Given the description of an element on the screen output the (x, y) to click on. 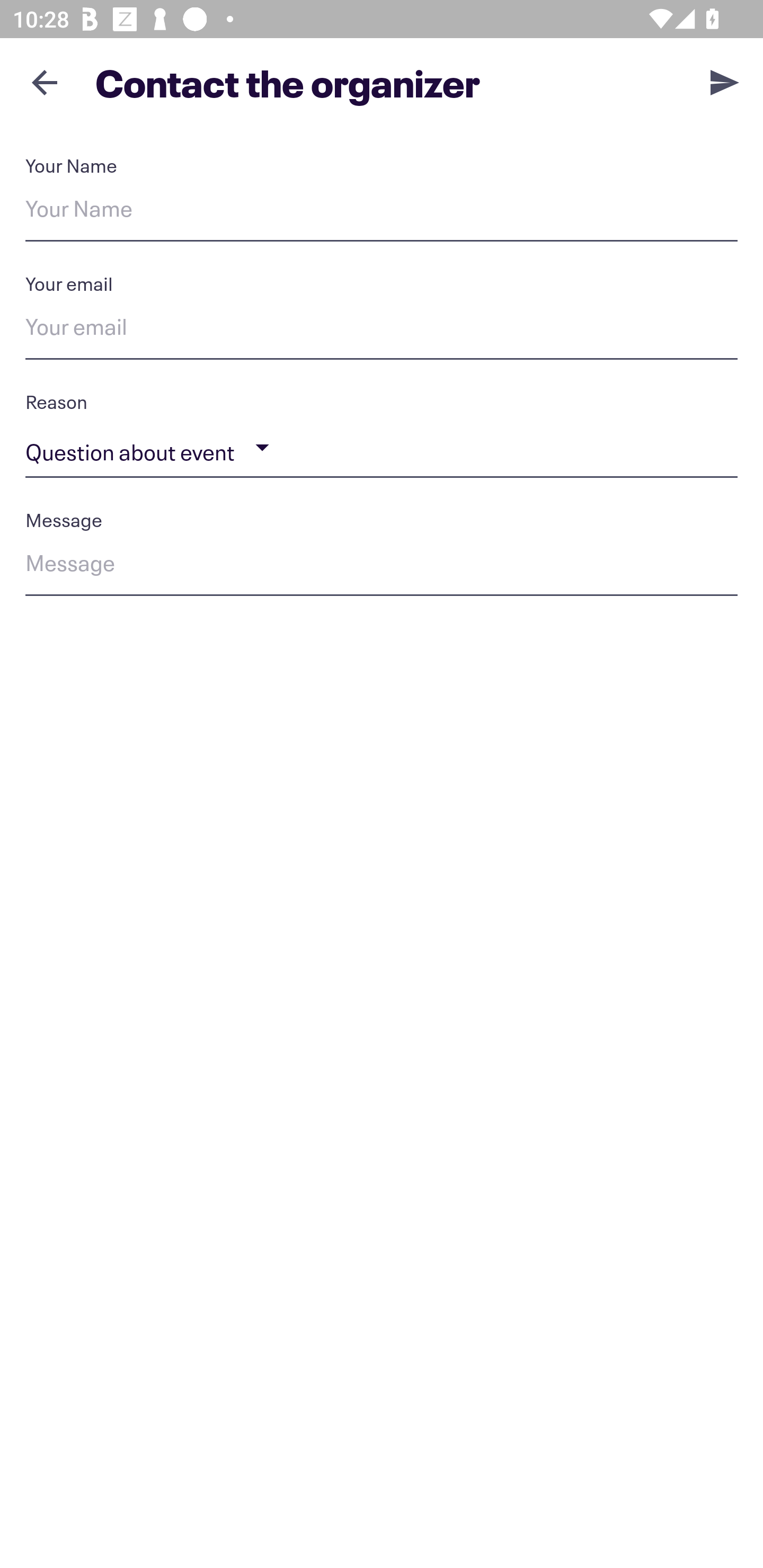
Navigate up (44, 82)
Send (724, 81)
Your Name (381, 211)
Your email (381, 329)
Question about event    (381, 447)
Message (381, 565)
